Given the description of an element on the screen output the (x, y) to click on. 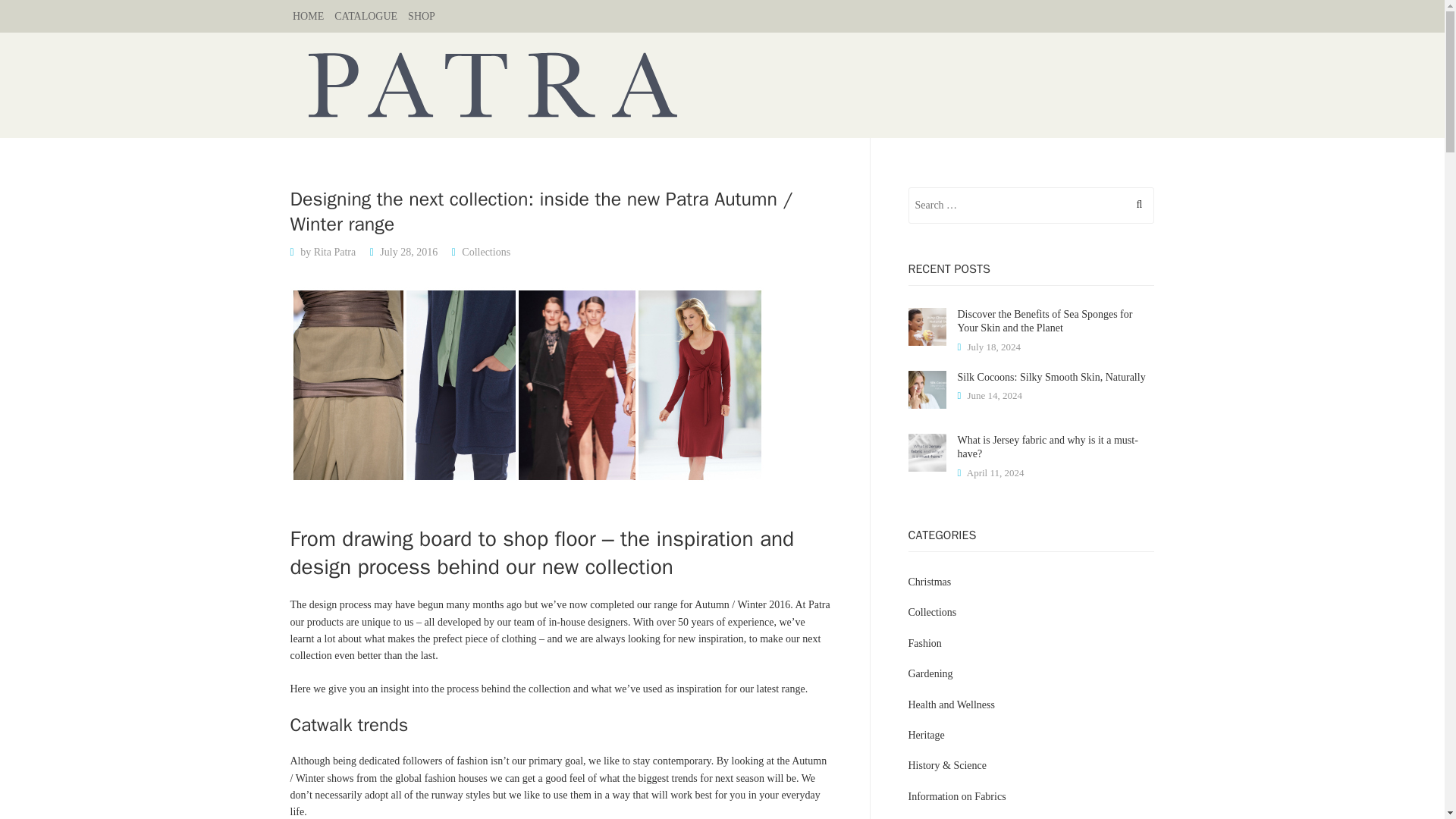
July 28, 2016 (409, 251)
Rita Patra (335, 251)
Patra Selections Blog: Silk Clothing and Underwear (721, 84)
CATALOGUE (370, 16)
Patra Selections Blog: Silk Clothing and Underwear (721, 84)
Collections (486, 251)
HOME (313, 16)
SHOP (426, 16)
